Given the description of an element on the screen output the (x, y) to click on. 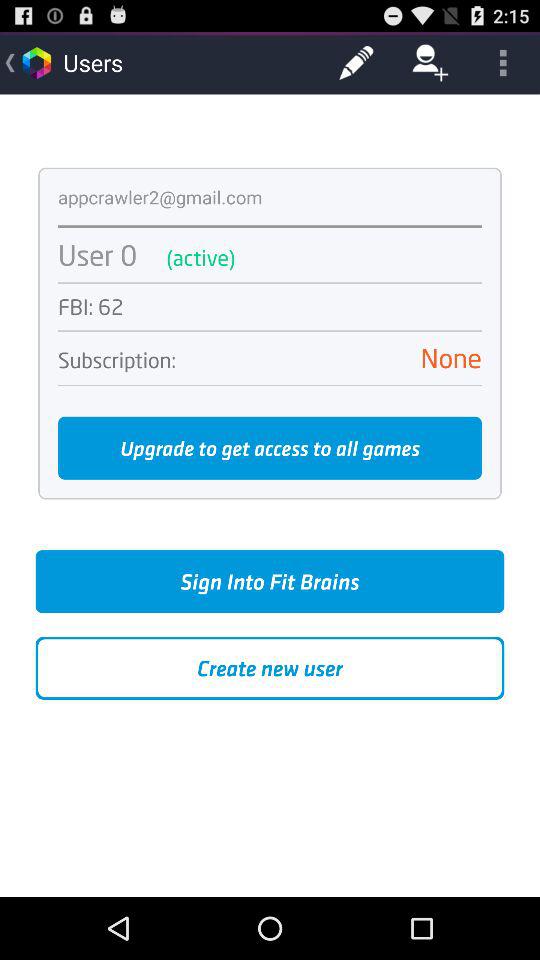
turn off the (active) app (333, 257)
